Given the description of an element on the screen output the (x, y) to click on. 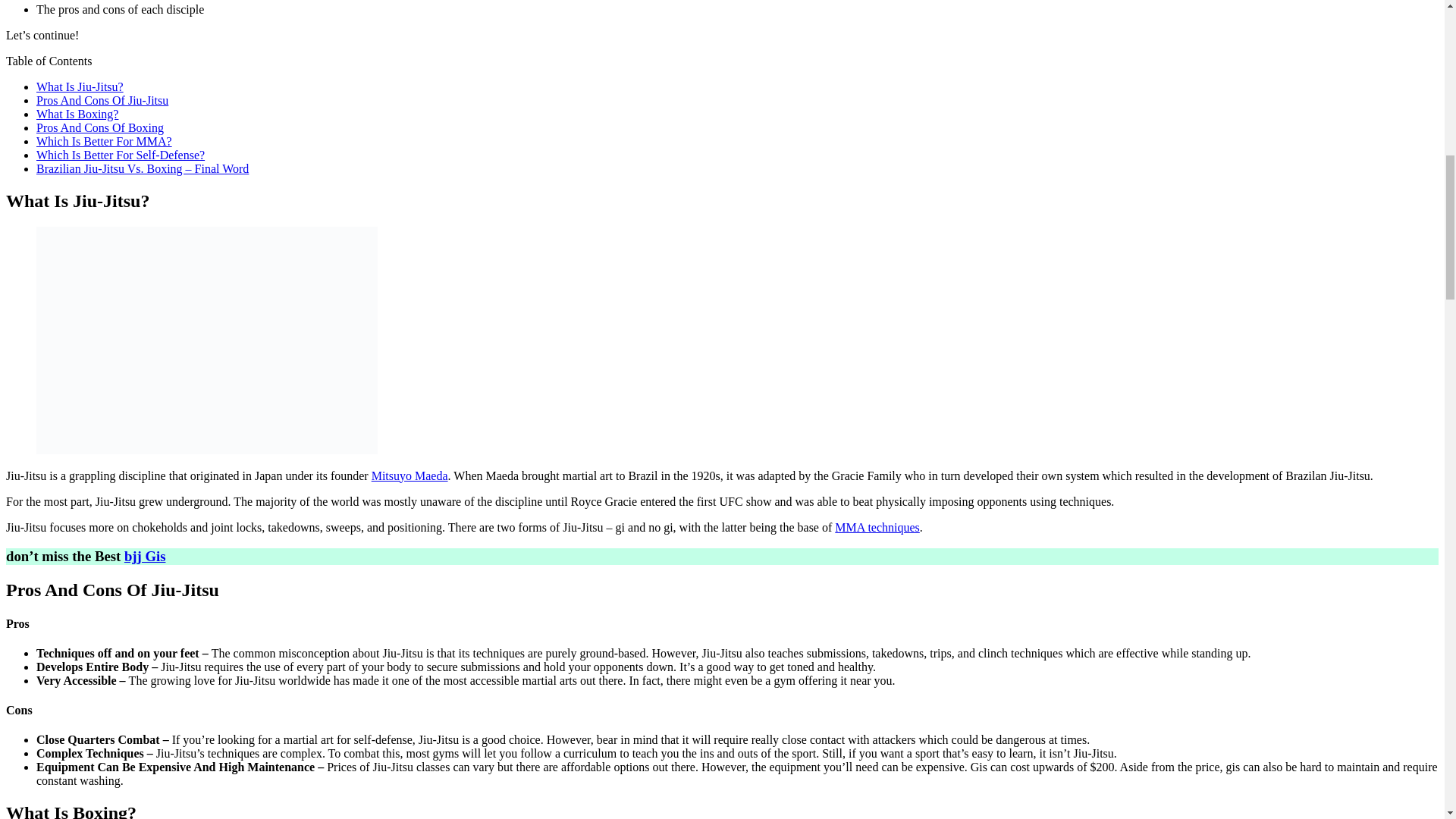
Pros And Cons Of Boxing (99, 127)
What Is Jiu-Jitsu? (79, 86)
What Is Boxing? (76, 113)
Pros And Cons Of Jiu-Jitsu (102, 100)
